Given the description of an element on the screen output the (x, y) to click on. 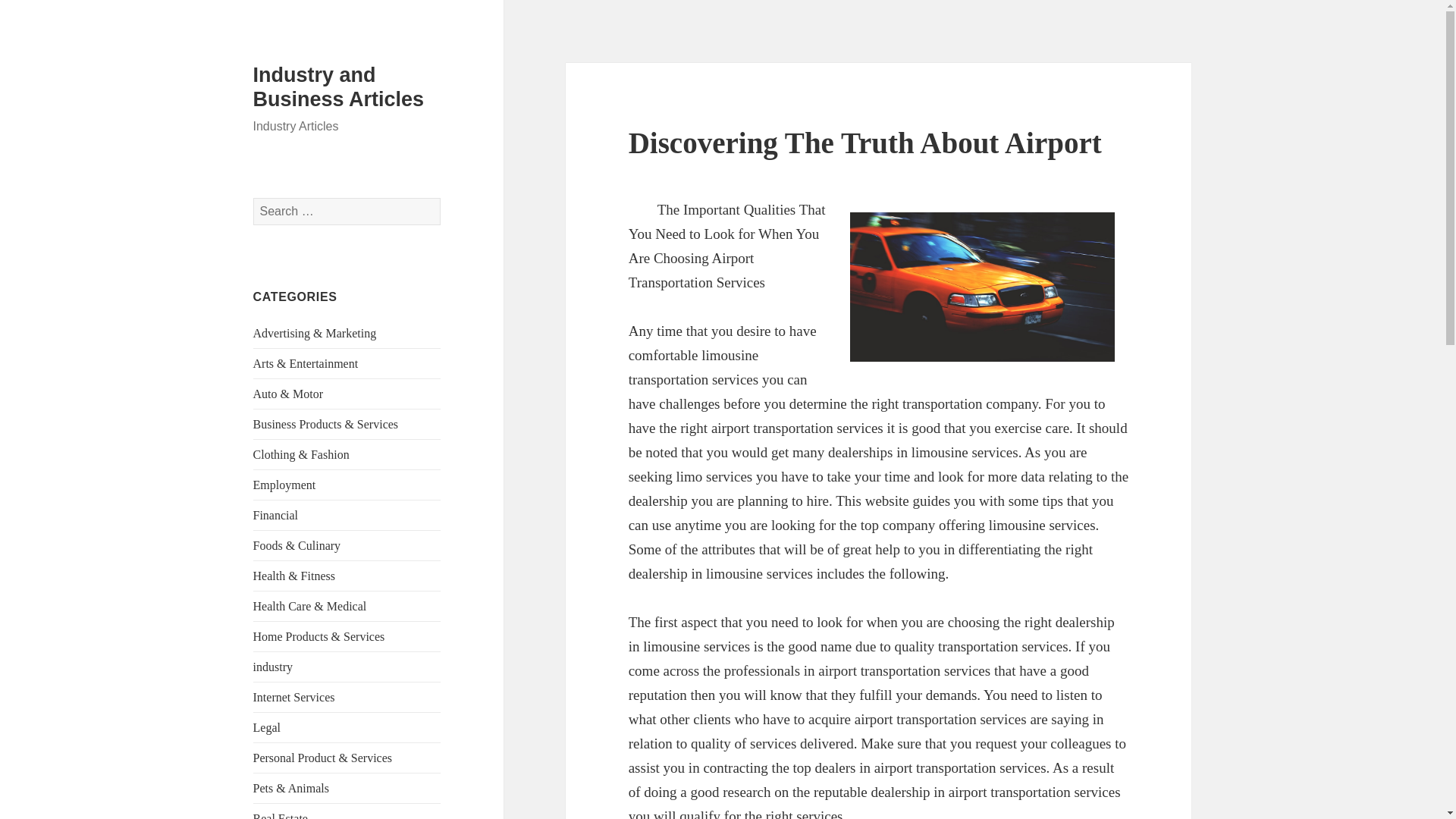
Internet Services (293, 697)
Legal (267, 727)
Employment (284, 484)
Real Estate (280, 815)
Financial (275, 514)
industry (272, 666)
Industry and Business Articles (339, 86)
